Given the description of an element on the screen output the (x, y) to click on. 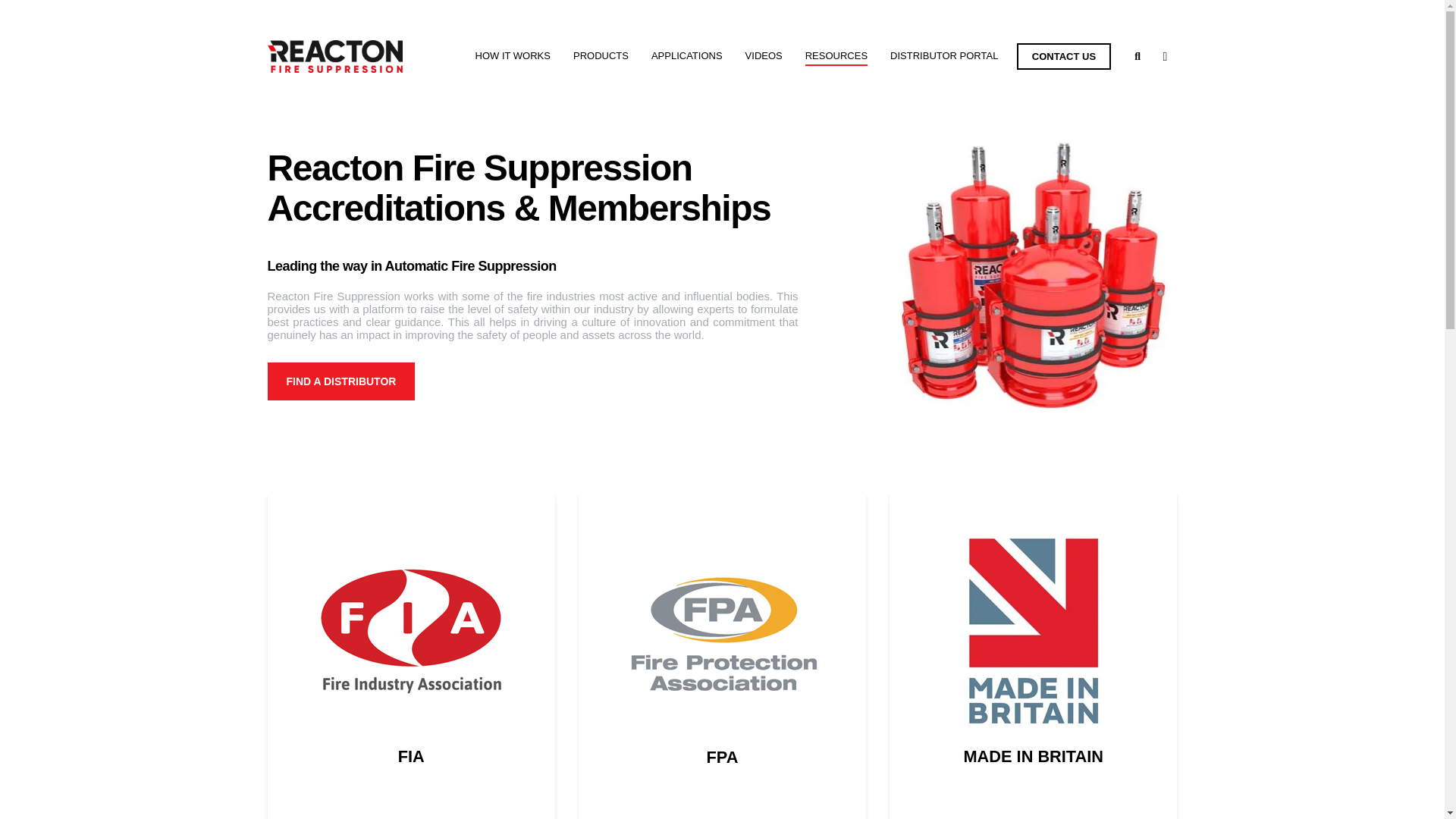
Fireassociation (721, 643)
HOW IT WORKS (513, 56)
APPLICATIONS (686, 56)
VIDEOS (764, 56)
PRODUCTS (600, 56)
02-Reacton-Accreditations-and-Memberships-FIA-Logo-01 (410, 630)
RESOURCES (836, 56)
Reacton-Black-Red-Long-Logo-01 (334, 56)
01-Reacton-Accreditations-and-Memberships-01 (1032, 273)
CONTACT US (1063, 56)
